Given the description of an element on the screen output the (x, y) to click on. 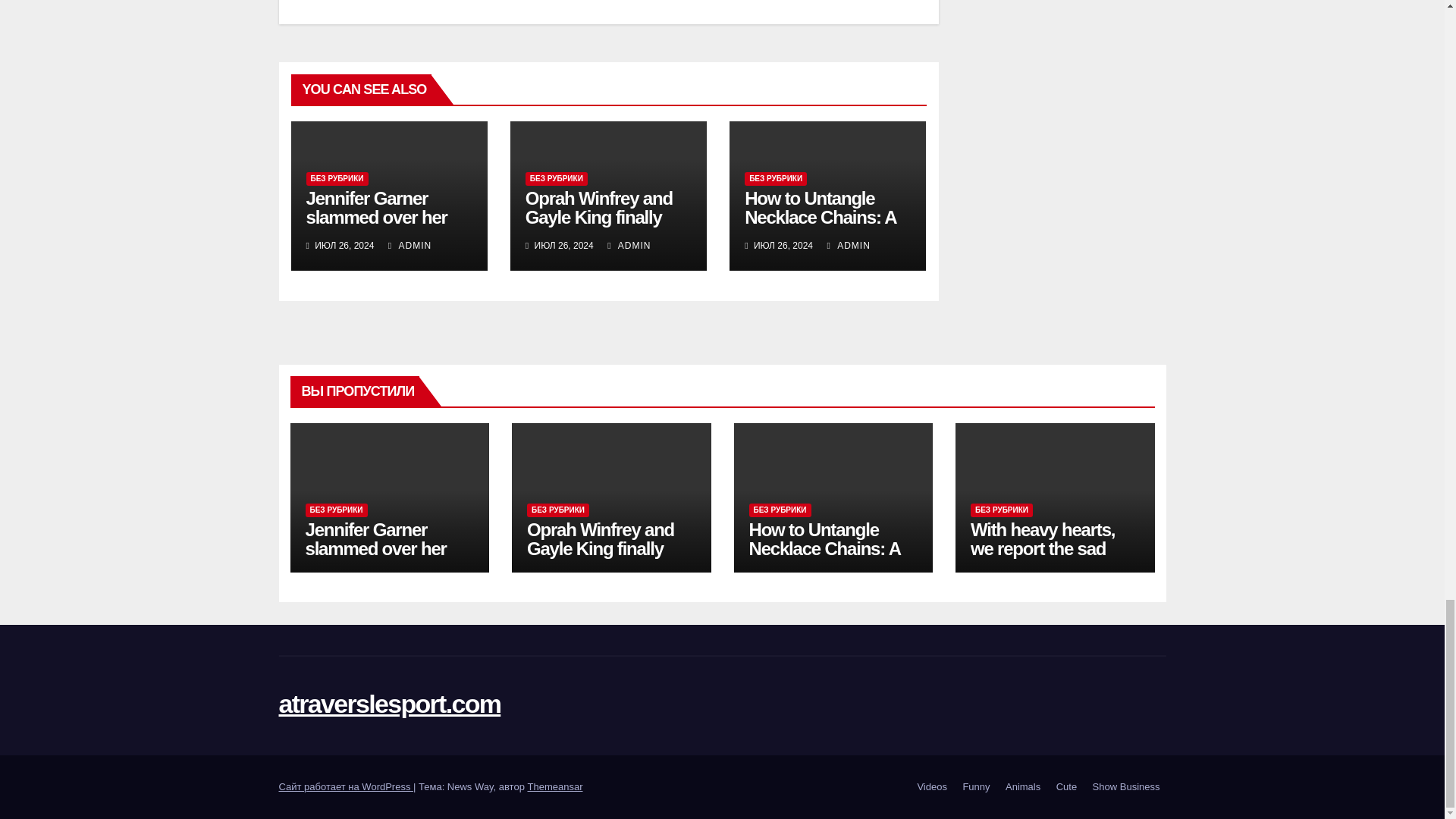
Permalink to: How to Untangle Necklace Chains: A Simple Hack (824, 548)
How to Untangle Necklace Chains: A Simple Hack (819, 217)
ADMIN (848, 245)
Permalink to: How to Untangle Necklace Chains: A Simple Hack (819, 217)
ADMIN (409, 245)
ADMIN (628, 245)
